Given the description of an element on the screen output the (x, y) to click on. 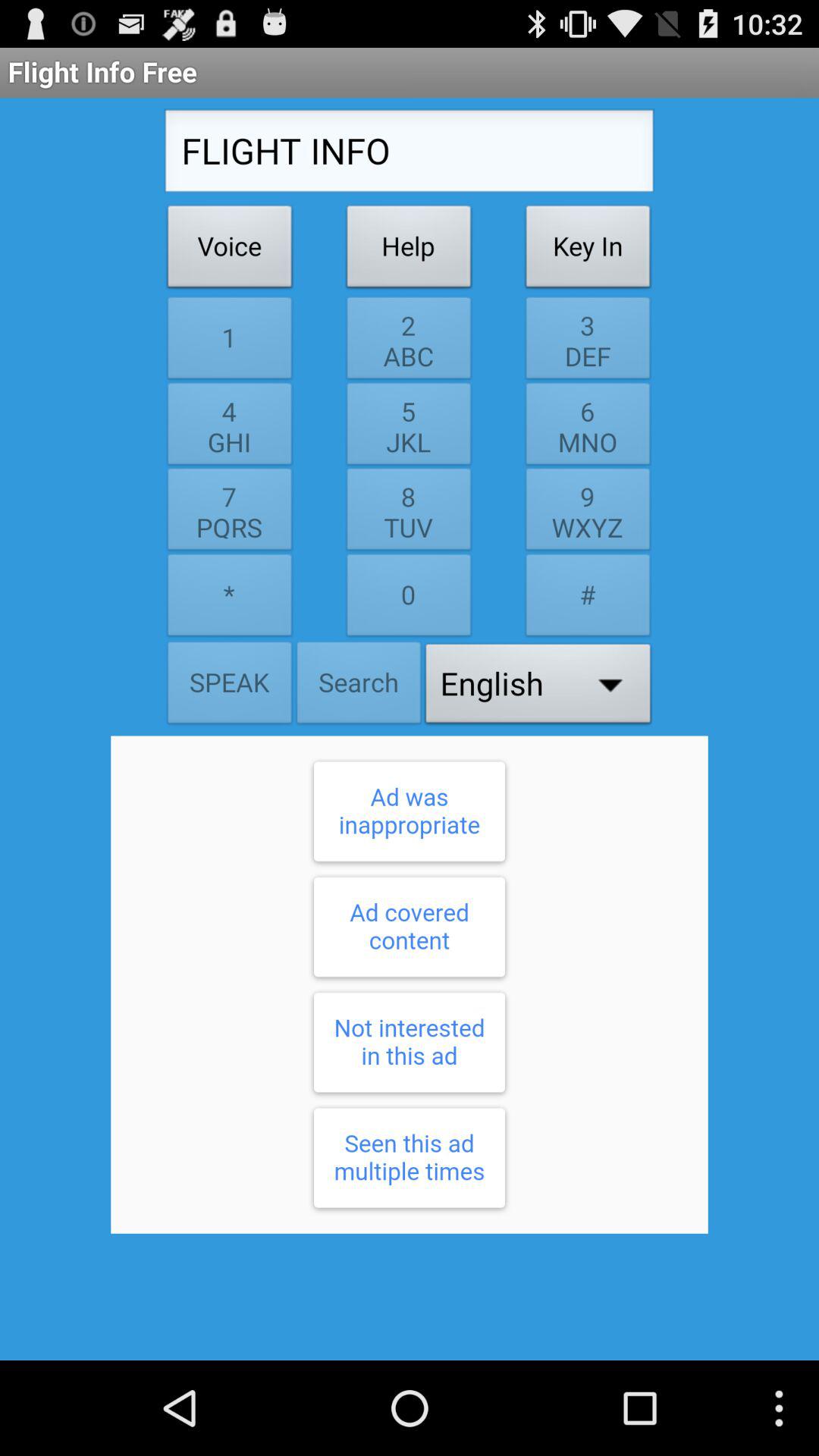
rate advertisement (409, 984)
